Given the description of an element on the screen output the (x, y) to click on. 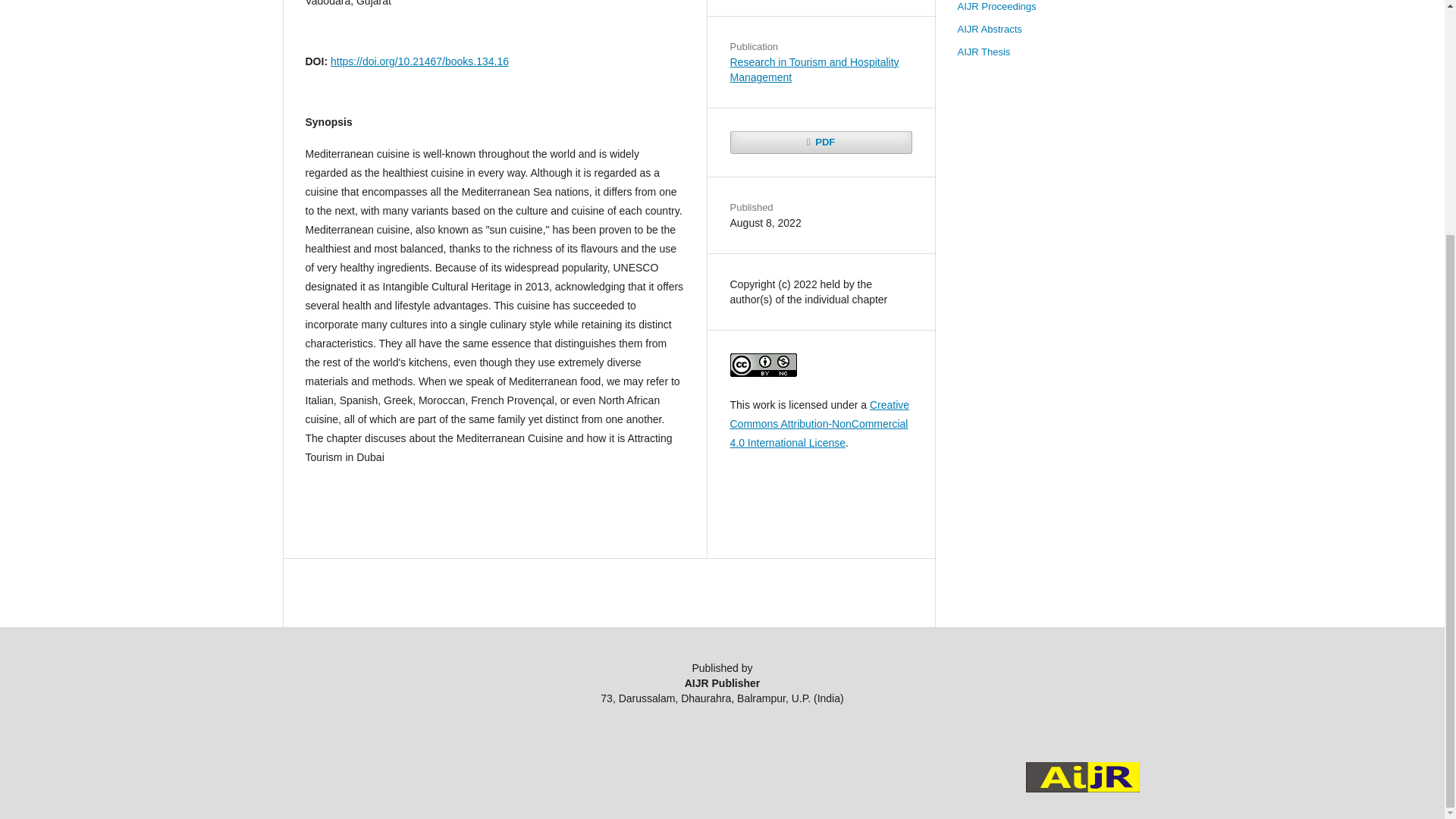
PDF (820, 142)
AIJR Proceedings (995, 6)
AIJR Abstracts (989, 29)
Research in Tourism and Hospitality Management (813, 69)
AIJR Thesis (983, 51)
